Given the description of an element on the screen output the (x, y) to click on. 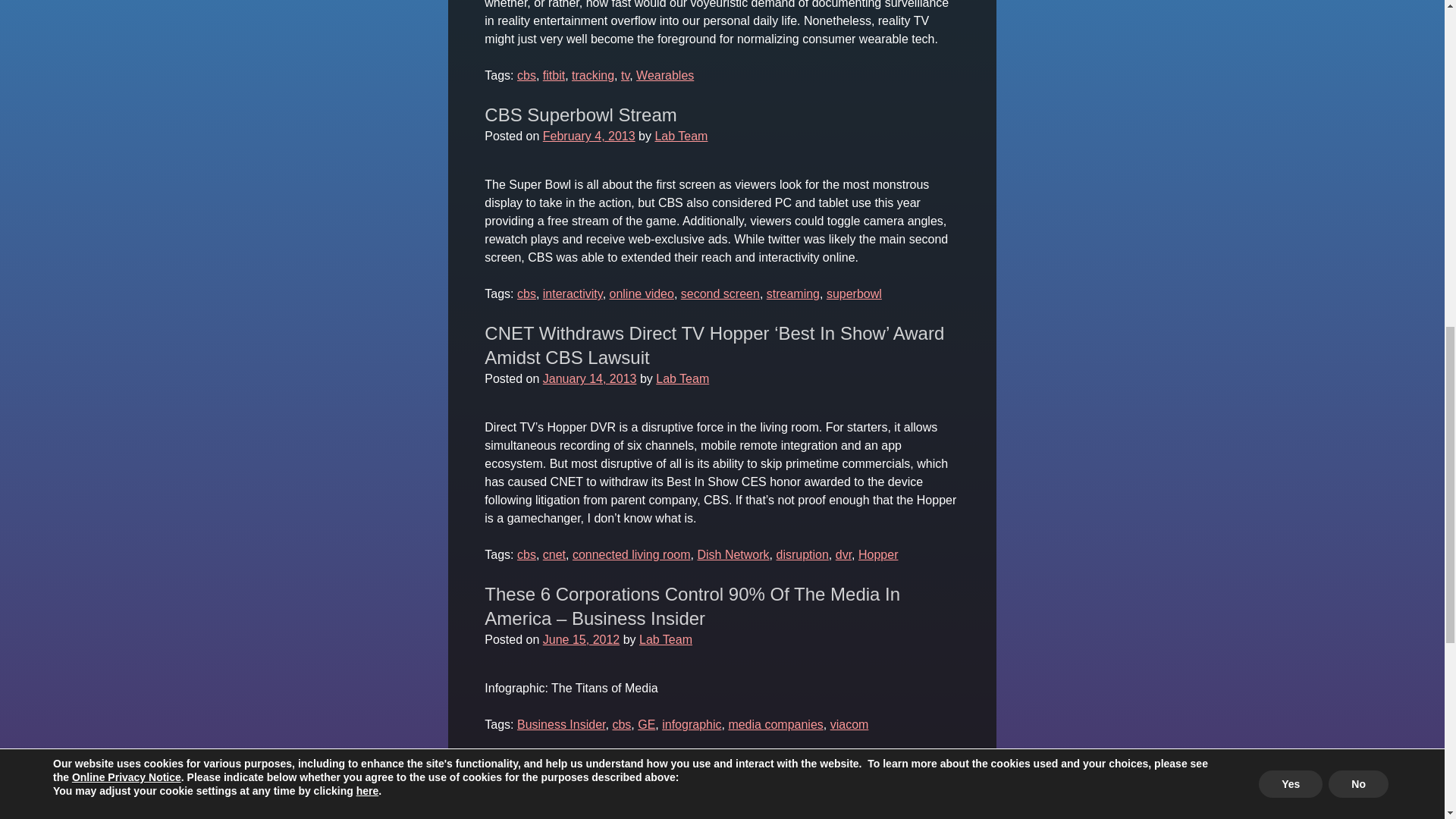
Lab Team (682, 378)
connected living room (631, 554)
online video (642, 293)
interactivity (572, 293)
cbs (525, 74)
Lab Team (680, 135)
Dish Network (732, 554)
second screen (720, 293)
tracking (593, 74)
January 14, 2013 (590, 378)
CBS Superbowl Stream (580, 114)
cbs (525, 293)
February 4, 2013 (588, 135)
Wearables (665, 74)
cbs (525, 554)
